Given the description of an element on the screen output the (x, y) to click on. 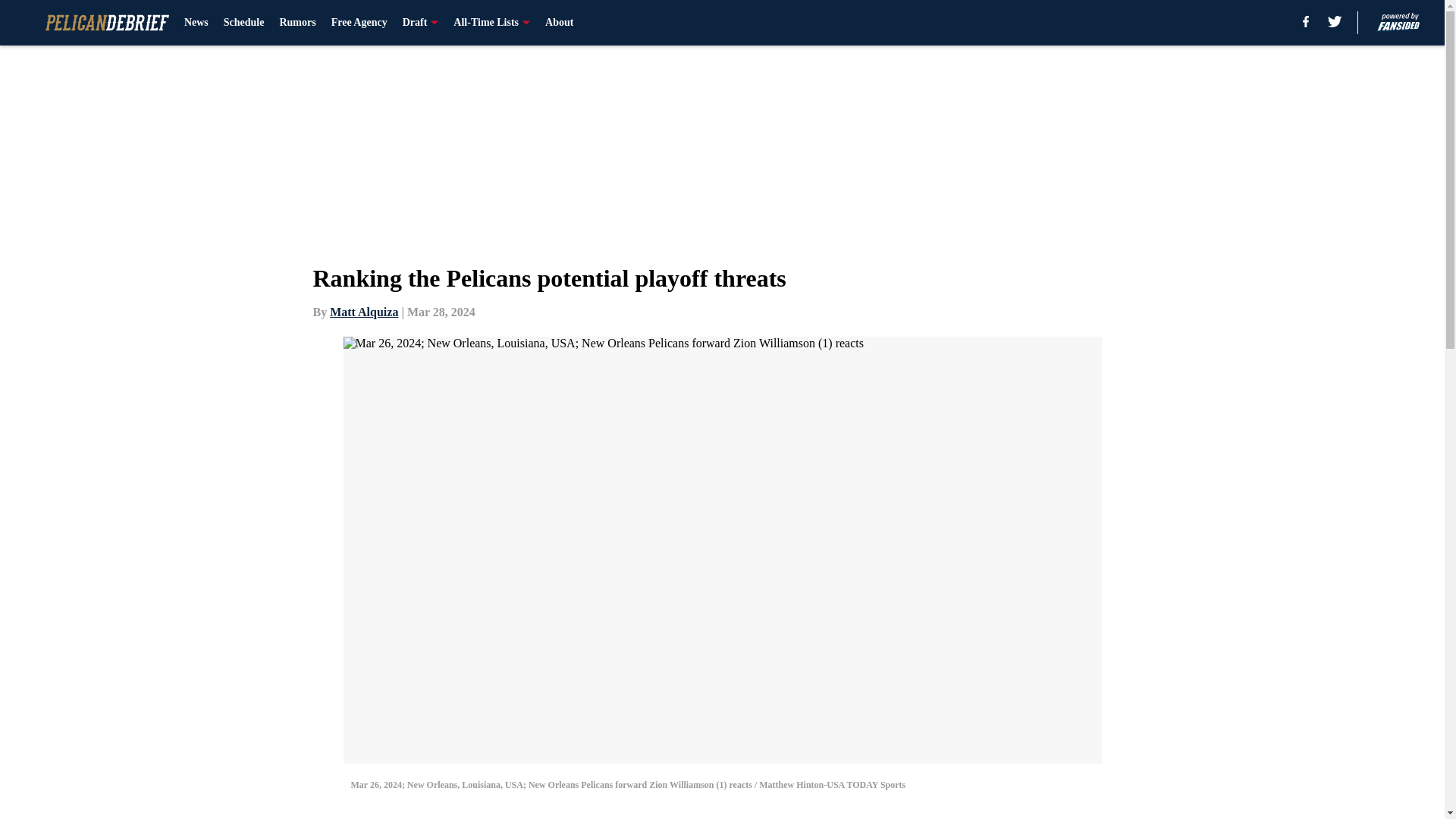
Free Agency (359, 22)
Draft (421, 22)
About (558, 22)
Matt Alquiza (363, 311)
Schedule (244, 22)
All-Time Lists (490, 22)
Rumors (297, 22)
News (196, 22)
